Given the description of an element on the screen output the (x, y) to click on. 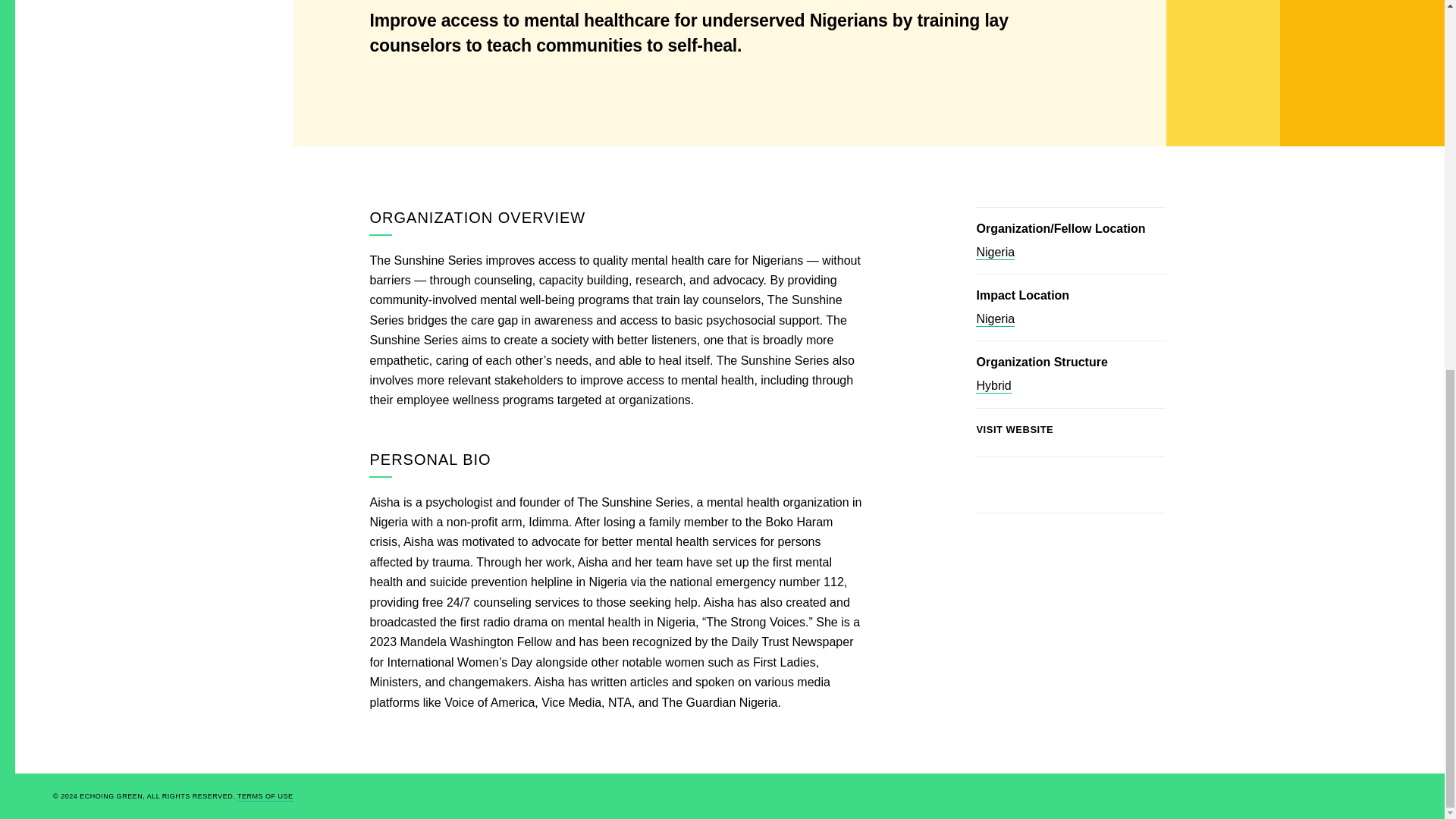
VISIT WEBSITE (1042, 429)
Nigeria (994, 252)
Hybrid (992, 386)
Nigeria (994, 319)
TERMS OF USE (265, 796)
